Given the description of an element on the screen output the (x, y) to click on. 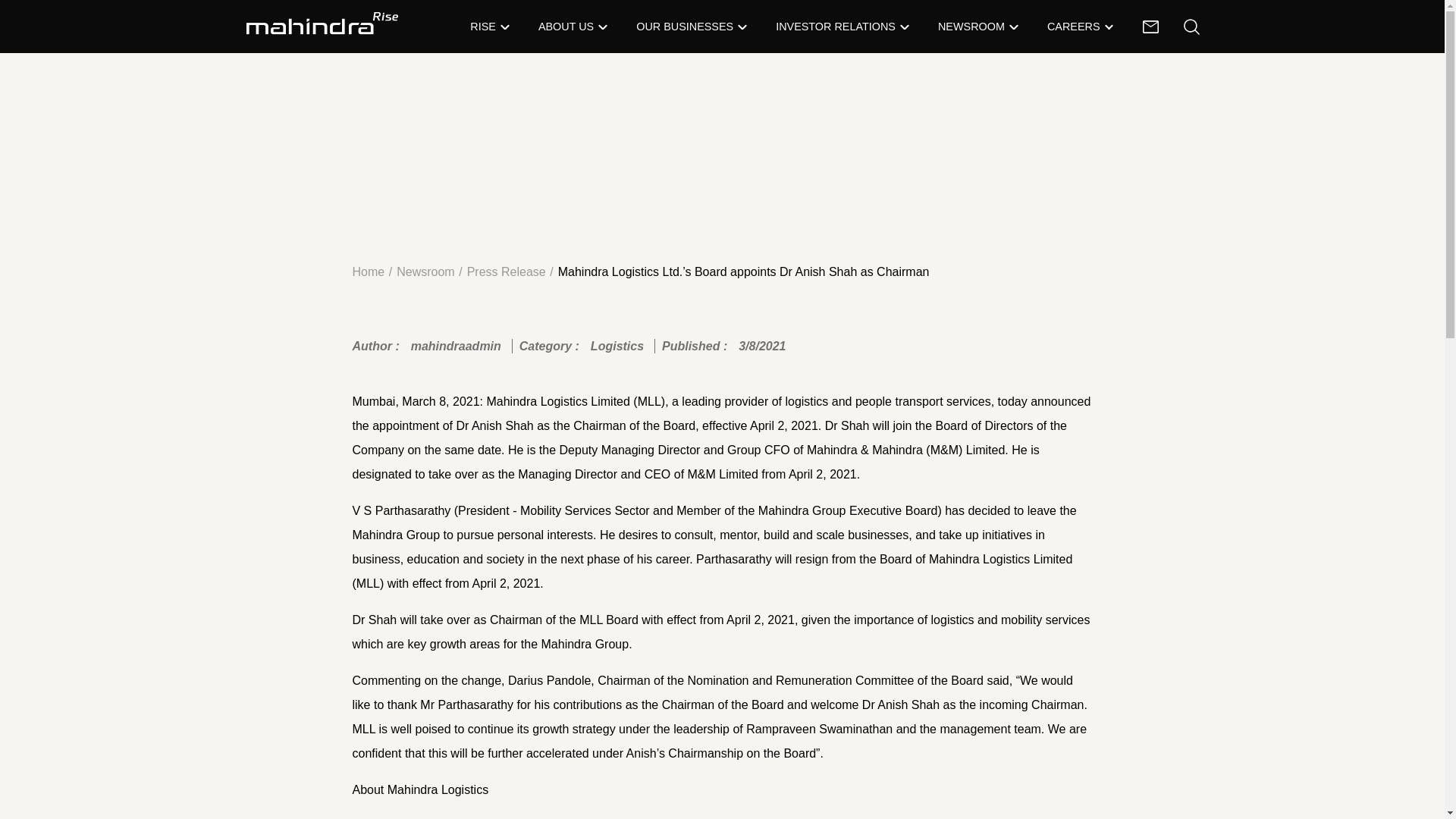
RISE (483, 26)
Newsroom (430, 272)
OUR BUSINESSES (684, 26)
NEWSROOM (970, 26)
Home (374, 272)
INVESTOR RELATIONS (835, 26)
Mahindra Brand Logo White Image (321, 23)
CAREERS (1073, 26)
Press Release (512, 272)
ABOUT US (566, 26)
